Given the description of an element on the screen output the (x, y) to click on. 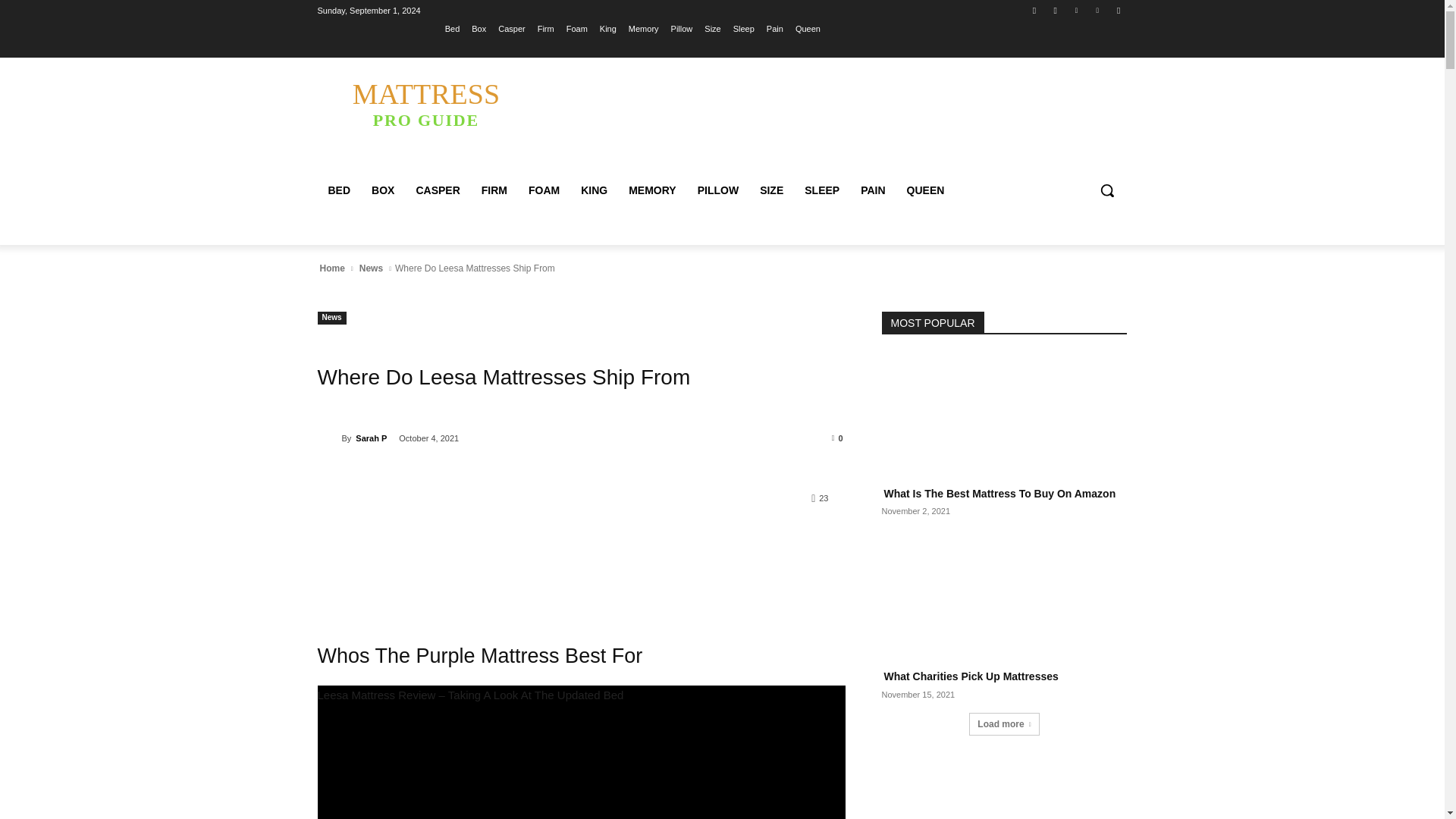
Youtube (1117, 9)
Instagram (1055, 9)
Twitter (1075, 9)
Casper (510, 28)
Facebook (425, 103)
Queen (1034, 9)
Pillow (807, 28)
View all posts in News (682, 28)
Foam (370, 268)
